Given the description of an element on the screen output the (x, y) to click on. 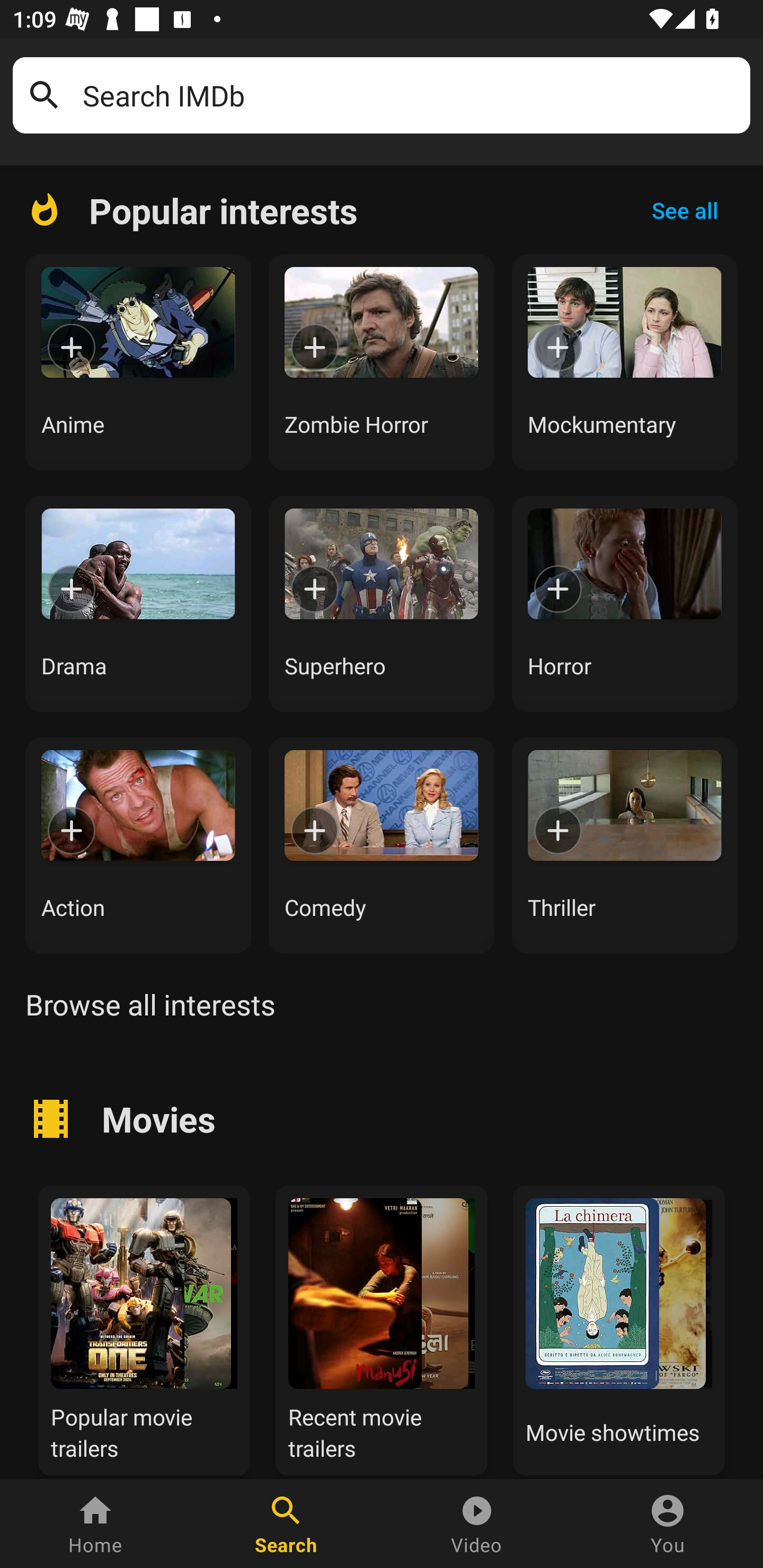
Search IMDb (410, 95)
See all (684, 209)
Anime (138, 361)
Zombie Horror (381, 361)
Mockumentary (624, 361)
Drama (138, 603)
Superhero (381, 603)
Horror (624, 603)
Action (138, 844)
Comedy (381, 844)
Thriller (624, 844)
